Given the description of an element on the screen output the (x, y) to click on. 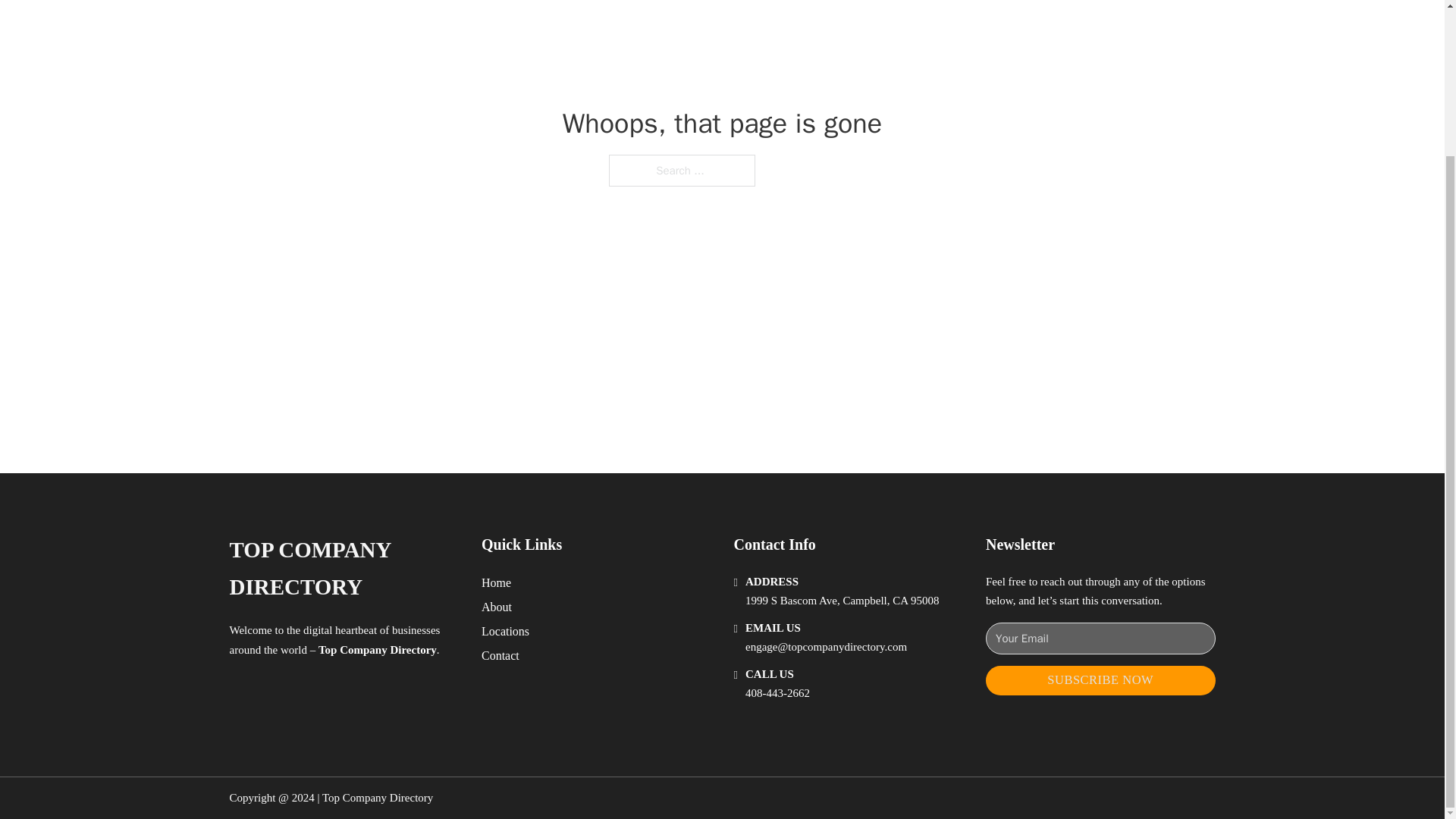
Home (496, 582)
About (496, 607)
Locations (505, 630)
Contact (500, 655)
408-443-2662 (777, 693)
SUBSCRIBE NOW (1100, 680)
TOP COMPANY DIRECTORY (343, 568)
